Given the description of an element on the screen output the (x, y) to click on. 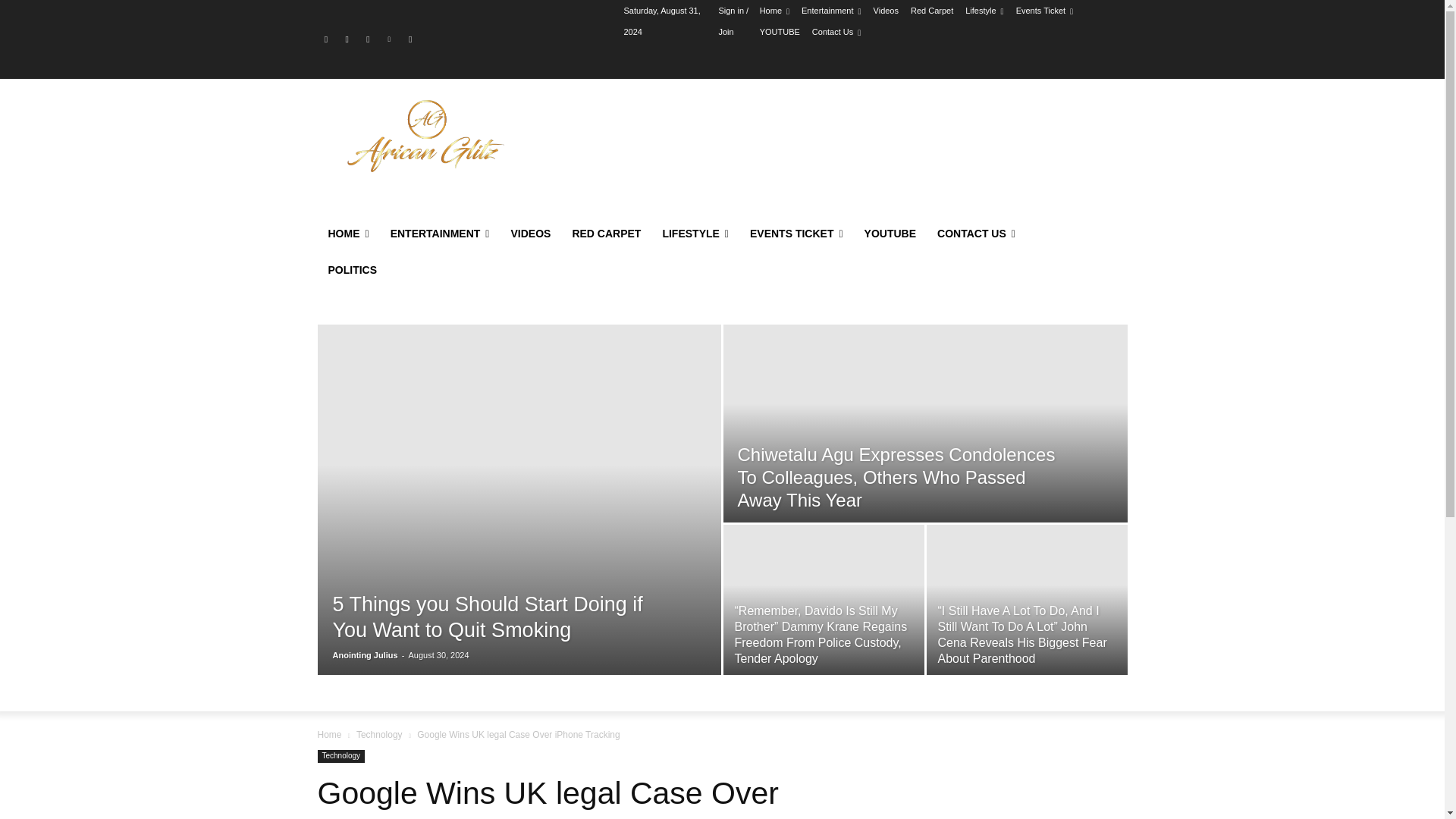
Vimeo (388, 39)
Facebook (325, 39)
Entertainment (831, 10)
Instagram (346, 39)
5 Things you Should Start Doing if You Want to Quit Smoking (486, 616)
Twitter (368, 39)
Youtube (410, 39)
